Given the description of an element on the screen output the (x, y) to click on. 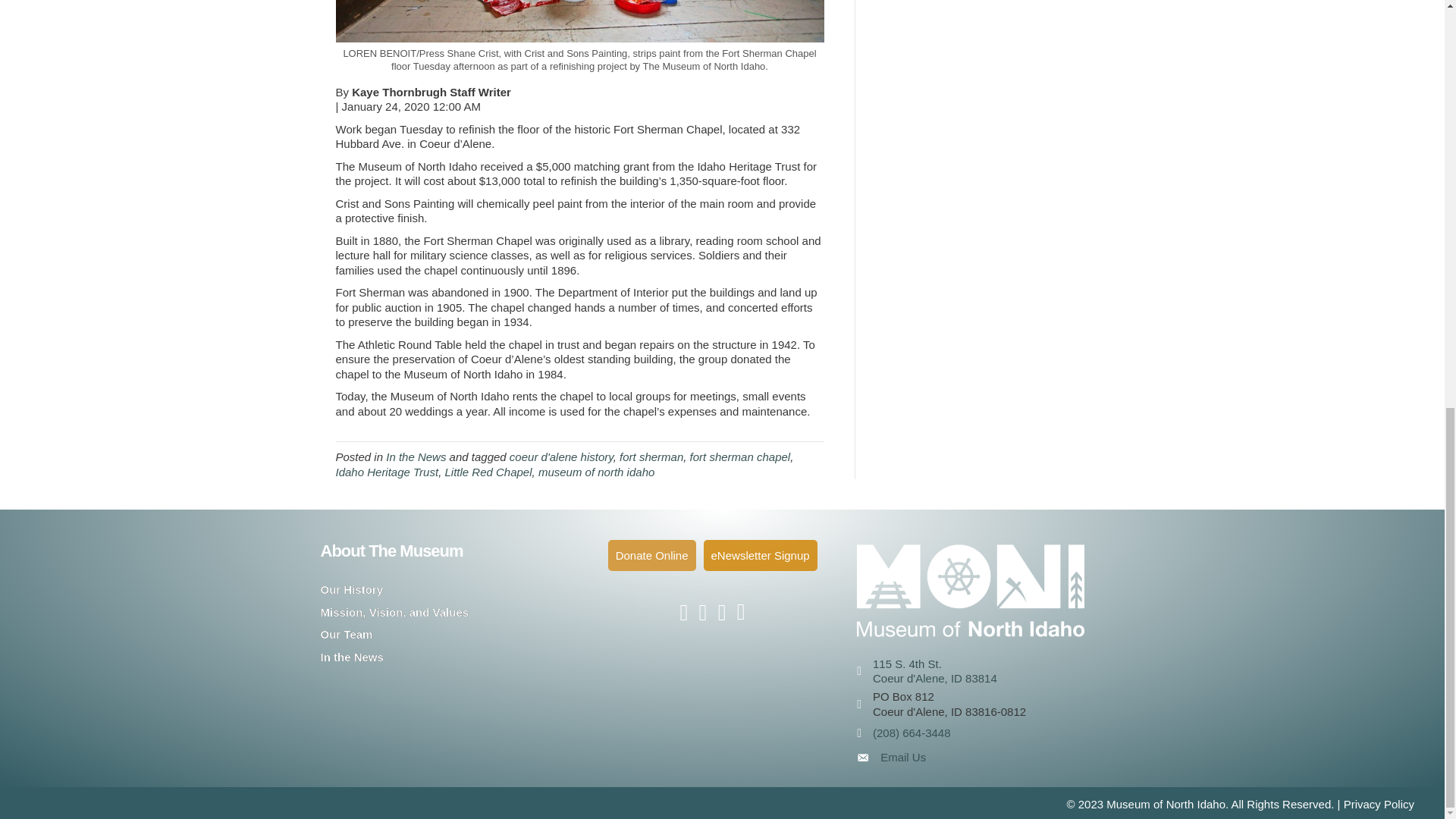
fort sherman chapel (740, 456)
Little Red Chapel (487, 472)
Idaho Heritage Trust (386, 472)
museum of north idaho (595, 472)
In the News (415, 456)
Untitled design (970, 589)
fort sherman (651, 456)
coeur d'alene history (560, 456)
